Given the description of an element on the screen output the (x, y) to click on. 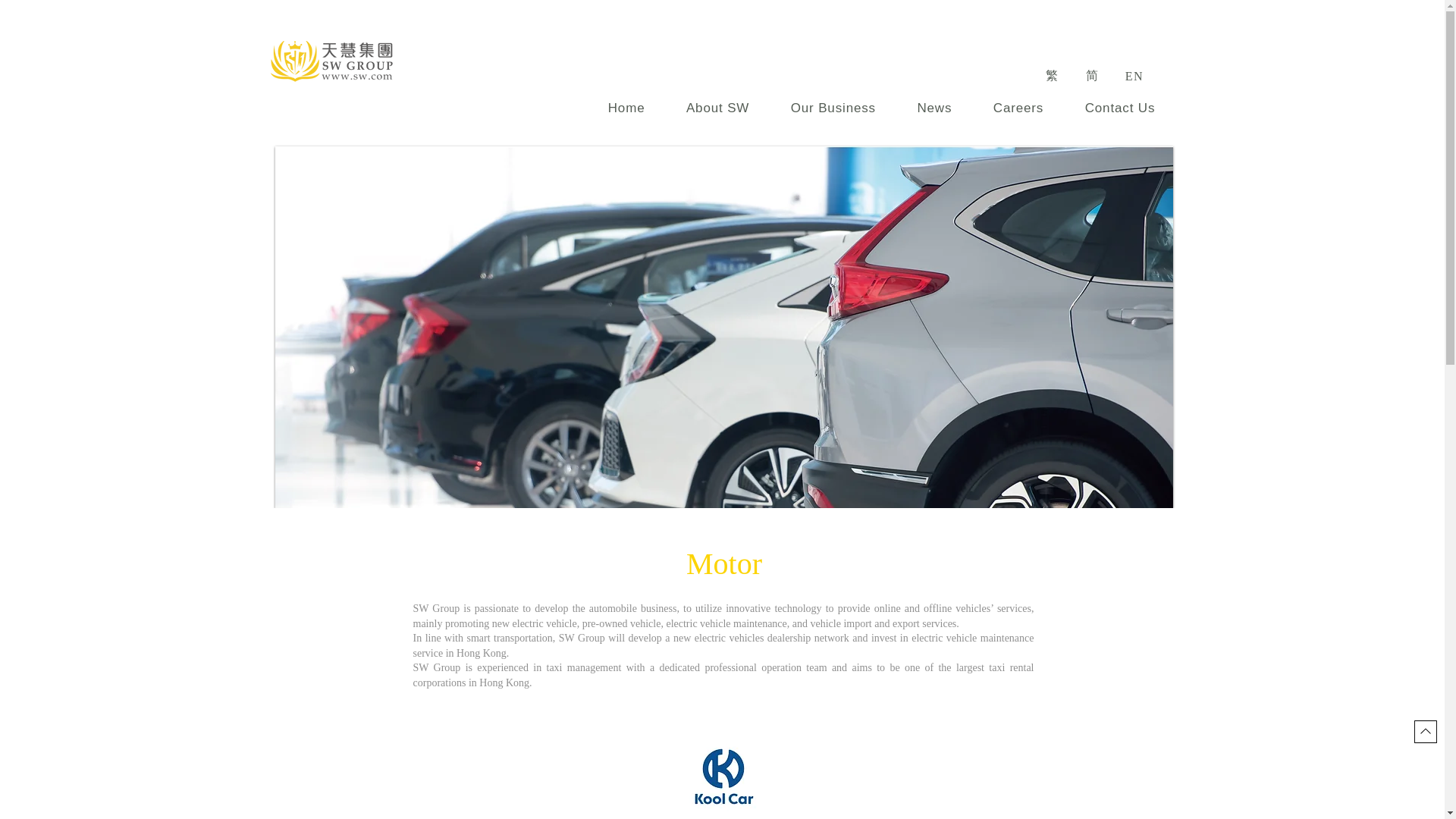
News (934, 108)
About SW (717, 108)
Contact Us (1119, 108)
Home (625, 108)
Careers (1018, 108)
EN (1135, 75)
Our Business (833, 108)
